Given the description of an element on the screen output the (x, y) to click on. 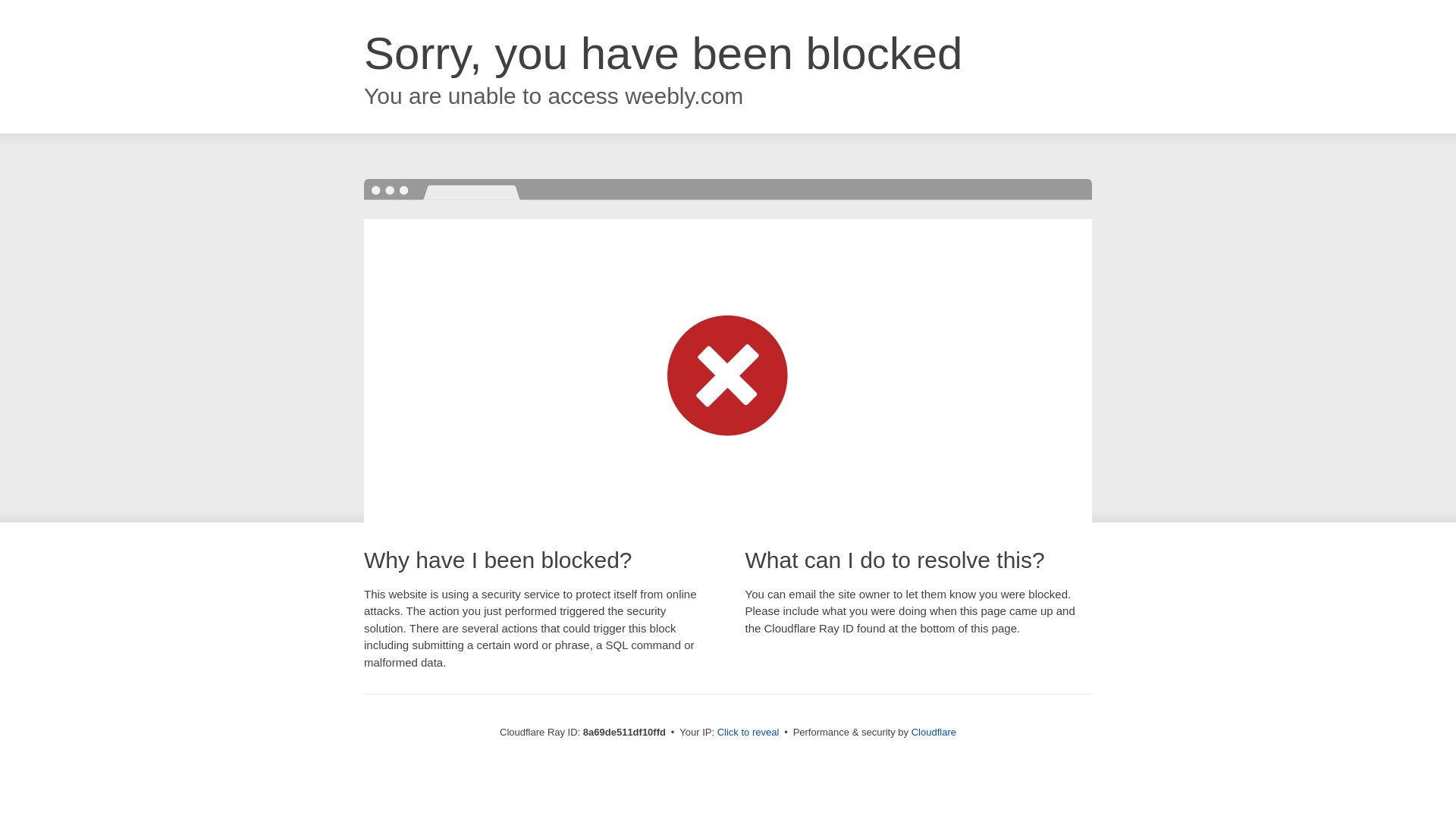
Cloudflare (933, 731)
Click to reveal (747, 732)
